Given the description of an element on the screen output the (x, y) to click on. 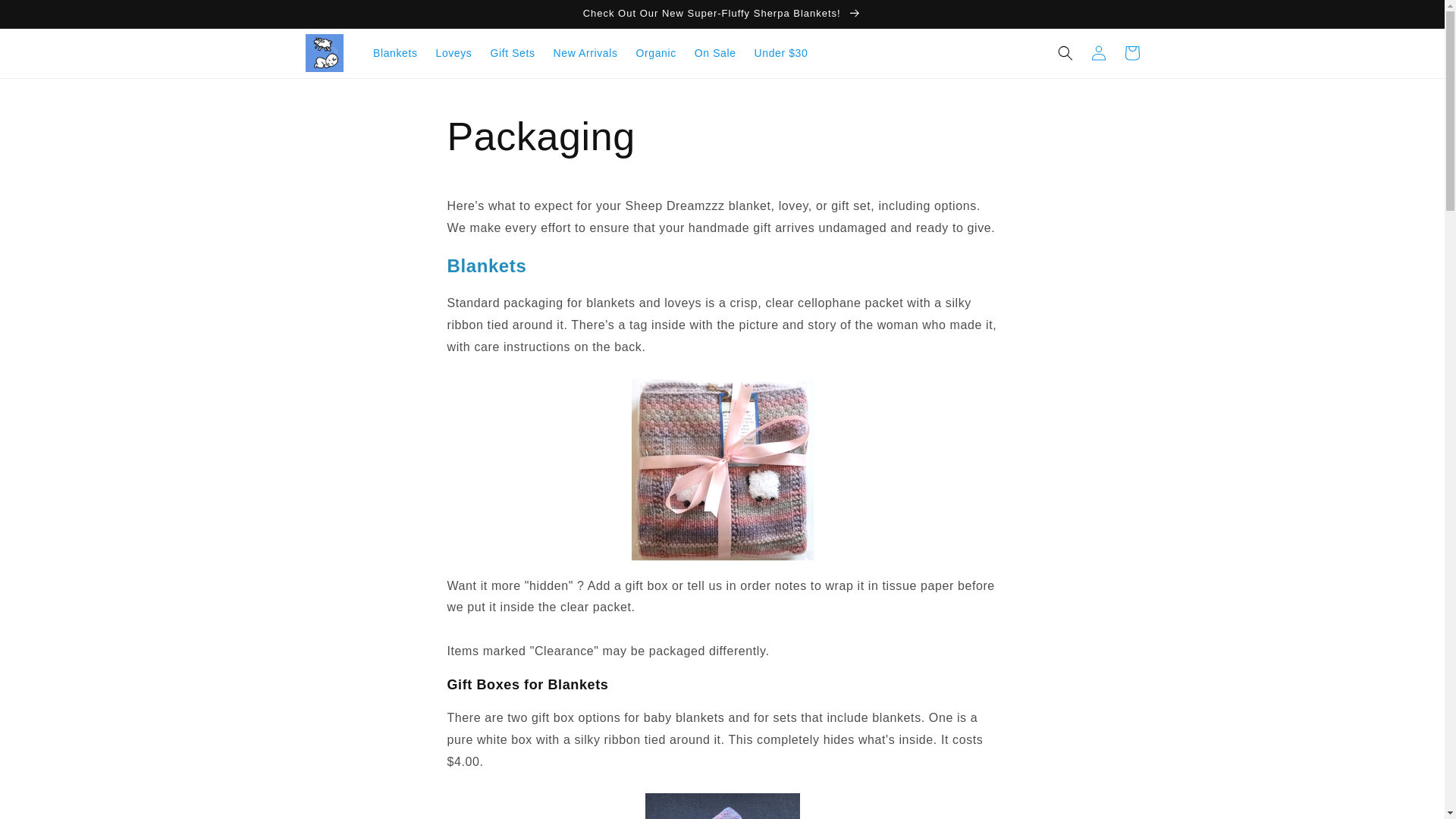
Cart (1131, 52)
On Sale (715, 52)
Organic (656, 52)
Blankets (395, 52)
Gift Sets (511, 52)
Log in (1098, 52)
Skip to content (48, 19)
Loveys (453, 52)
New Arrivals (585, 52)
